Given the description of an element on the screen output the (x, y) to click on. 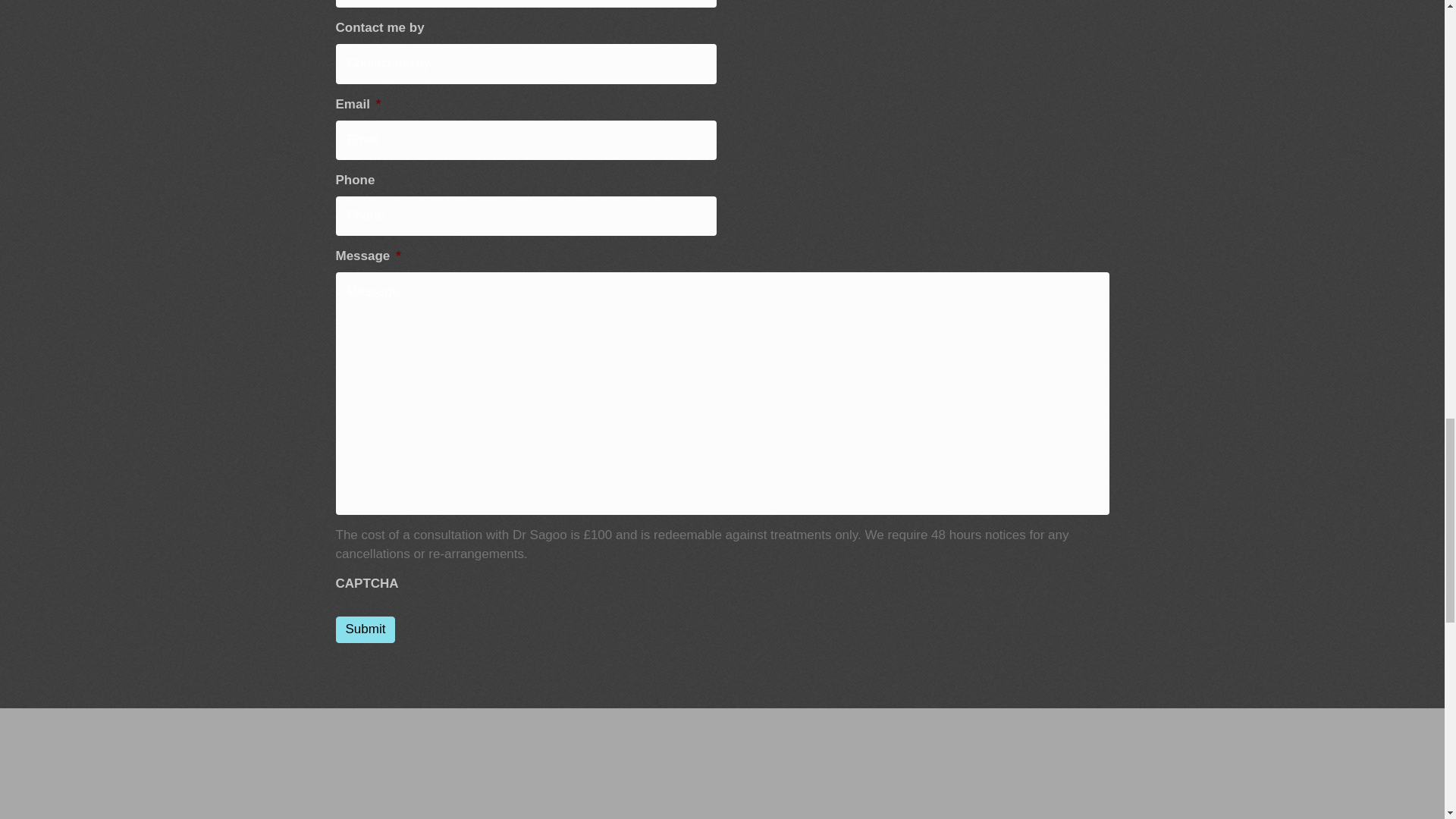
Submit (364, 629)
